Given the description of an element on the screen output the (x, y) to click on. 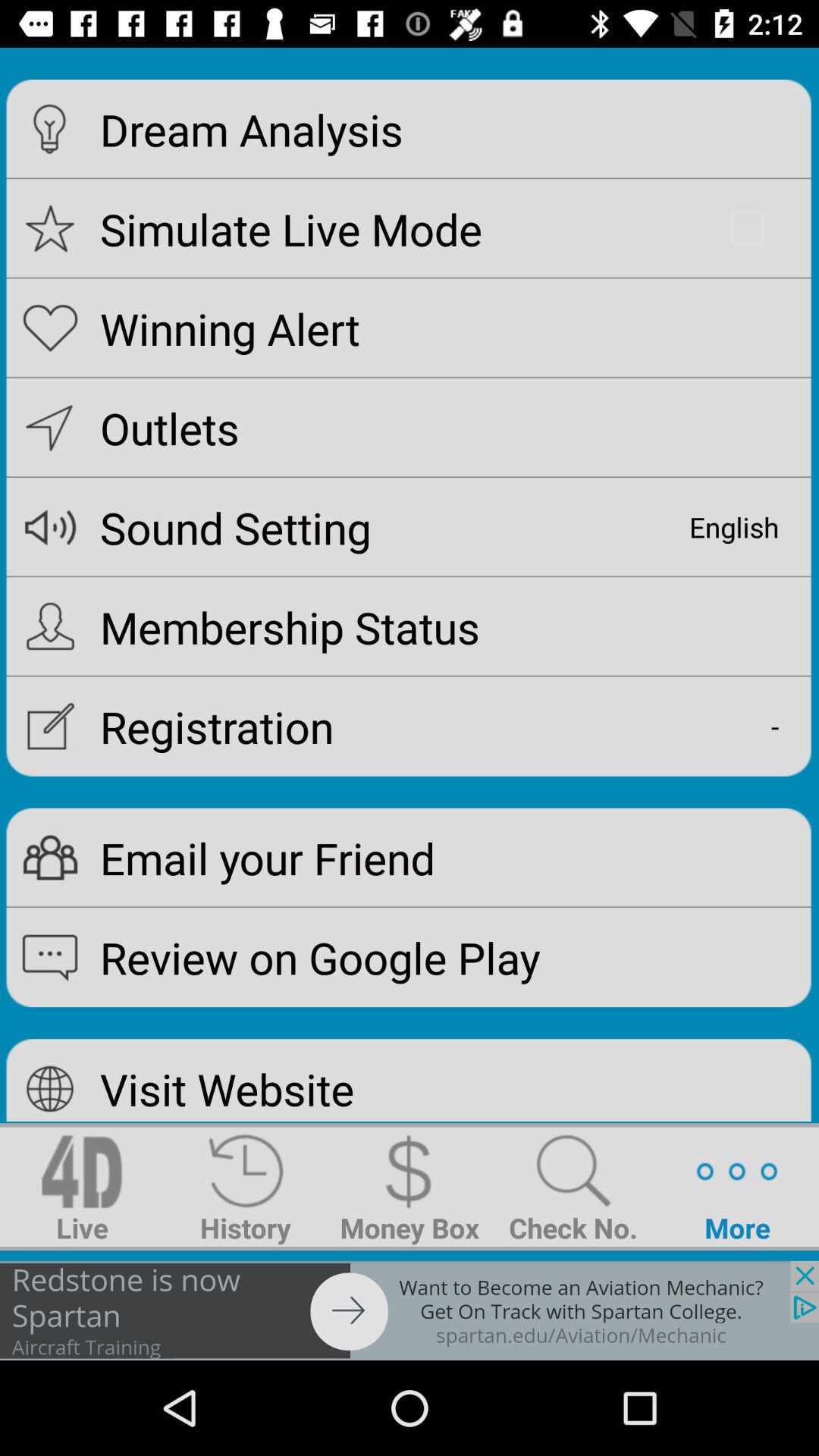
advertising (409, 1310)
